Given the description of an element on the screen output the (x, y) to click on. 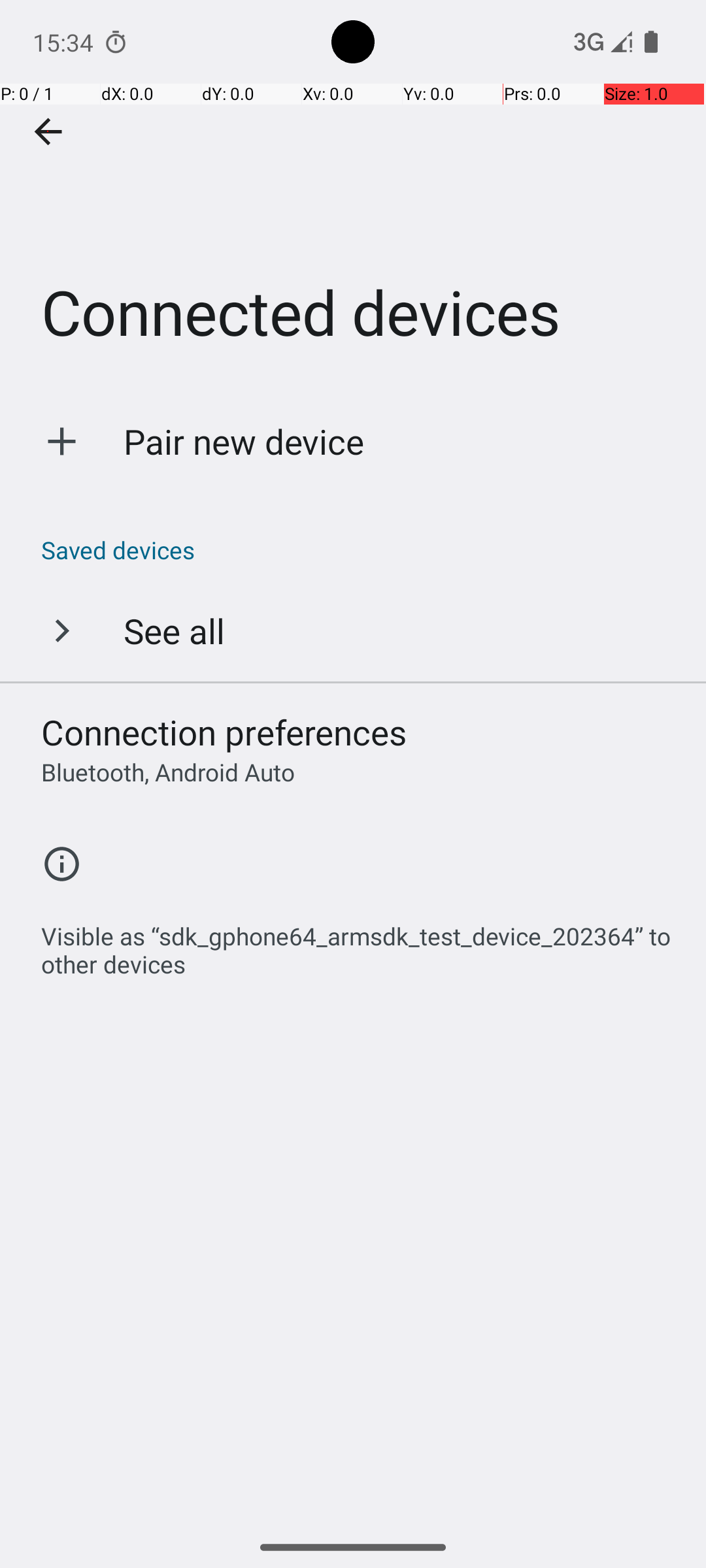
Visible as “sdk_gphone64_armsdk_test_device_202364” to other devices Element type: android.widget.TextView (359, 942)
